Given the description of an element on the screen output the (x, y) to click on. 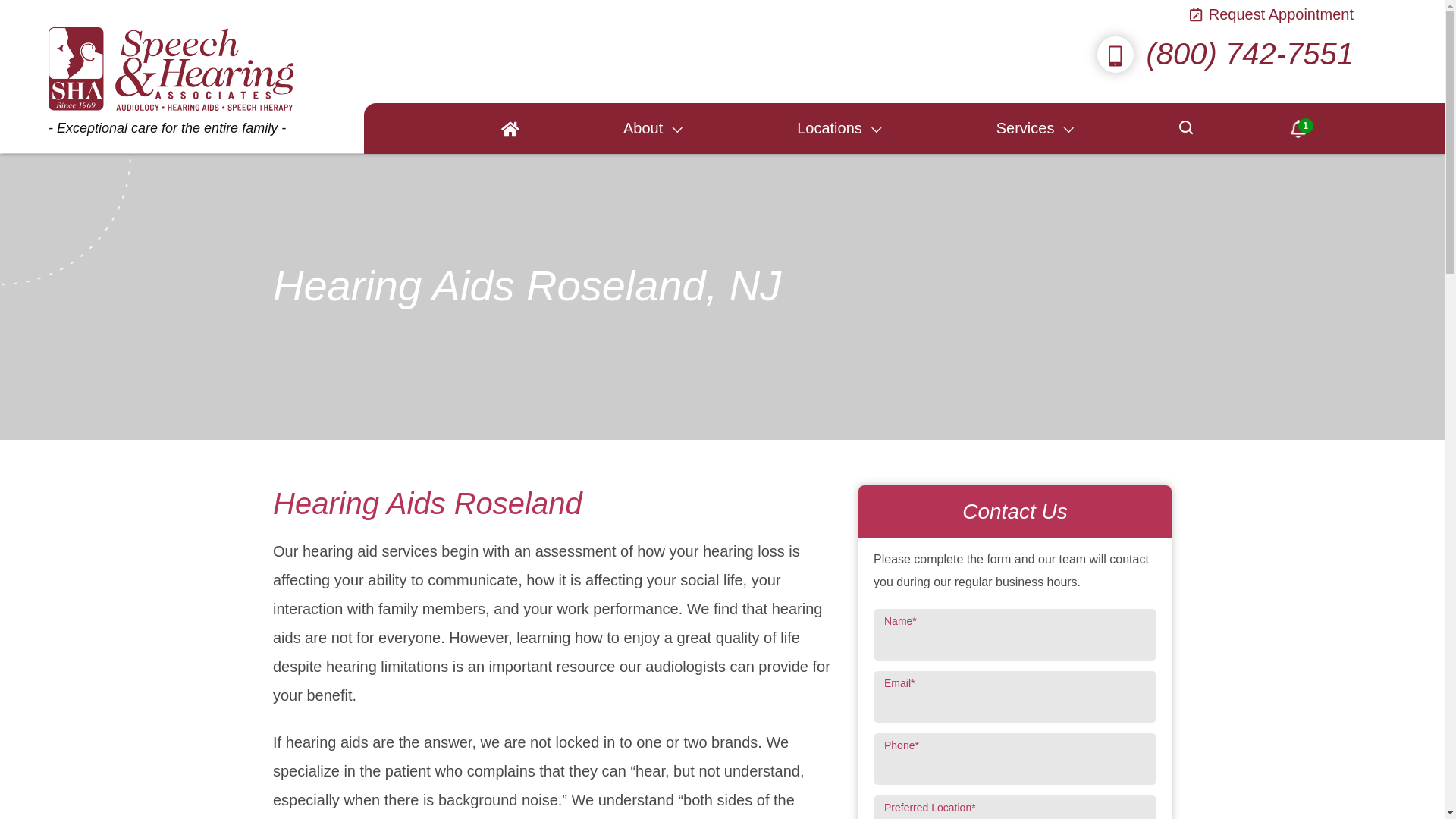
Exceptional care for the entire family (171, 76)
Home (510, 128)
Request Appointment (1272, 14)
